Given the description of an element on the screen output the (x, y) to click on. 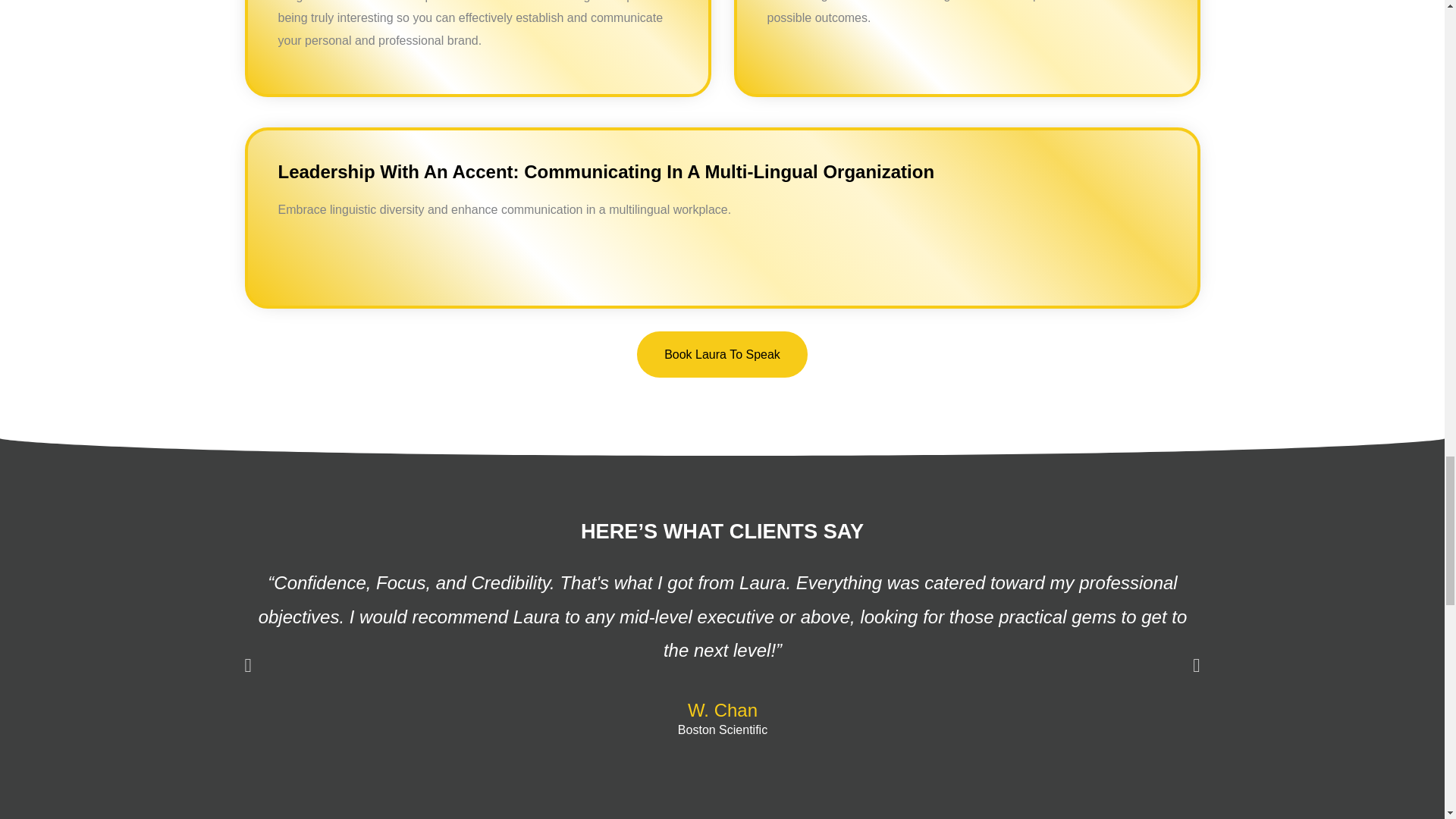
Book Laura To Speak (722, 354)
